Given the description of an element on the screen output the (x, y) to click on. 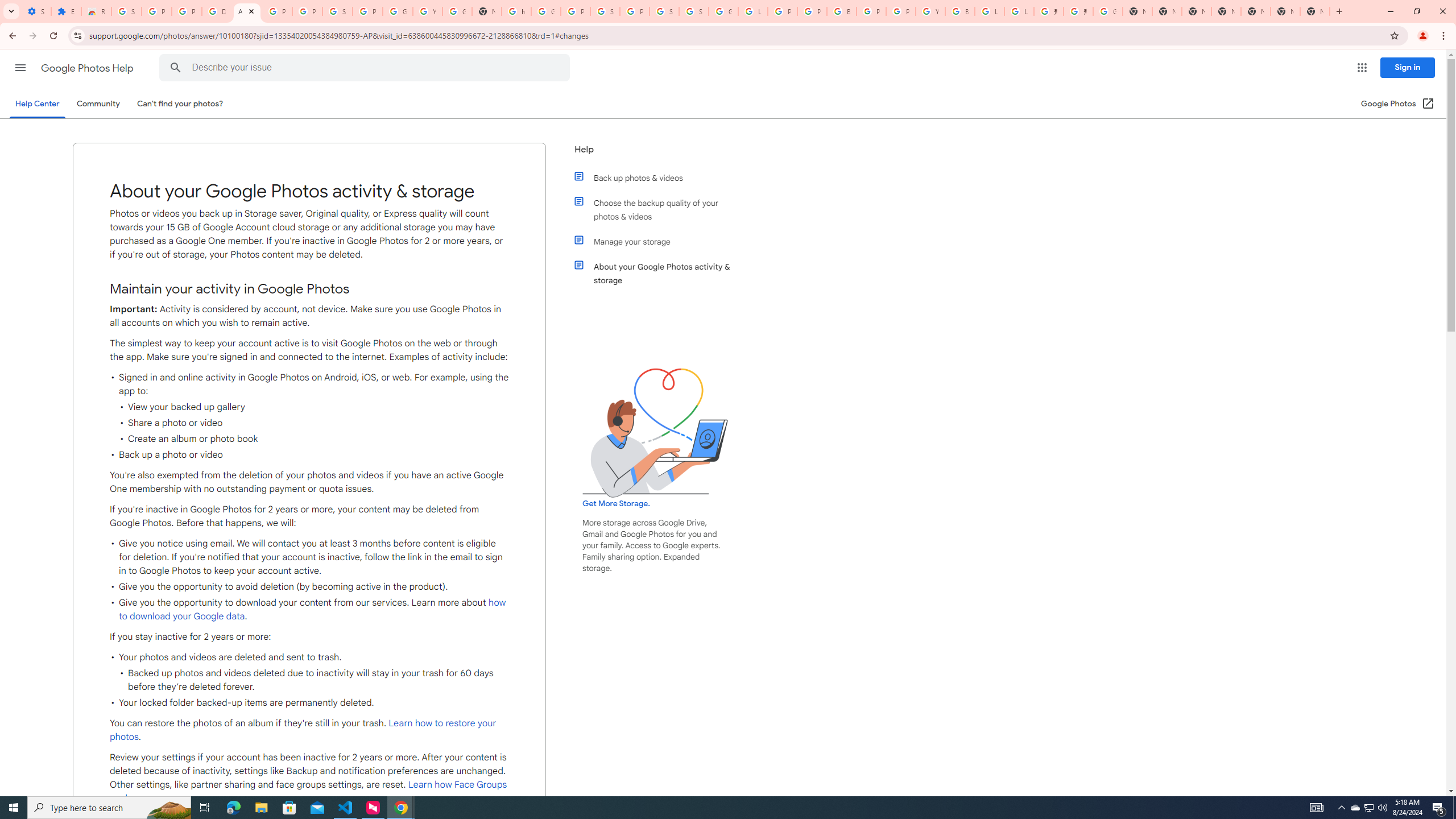
Google Account (397, 11)
Learn how to restore your photos (302, 729)
Help (656, 153)
YouTube (930, 11)
New Tab (1226, 11)
Reviews: Helix Fruit Jump Arcade Game (95, 11)
Sign in - Google Accounts (337, 11)
Google Images (1107, 11)
Extensions (65, 11)
Get More Storage. (615, 503)
